Given the description of an element on the screen output the (x, y) to click on. 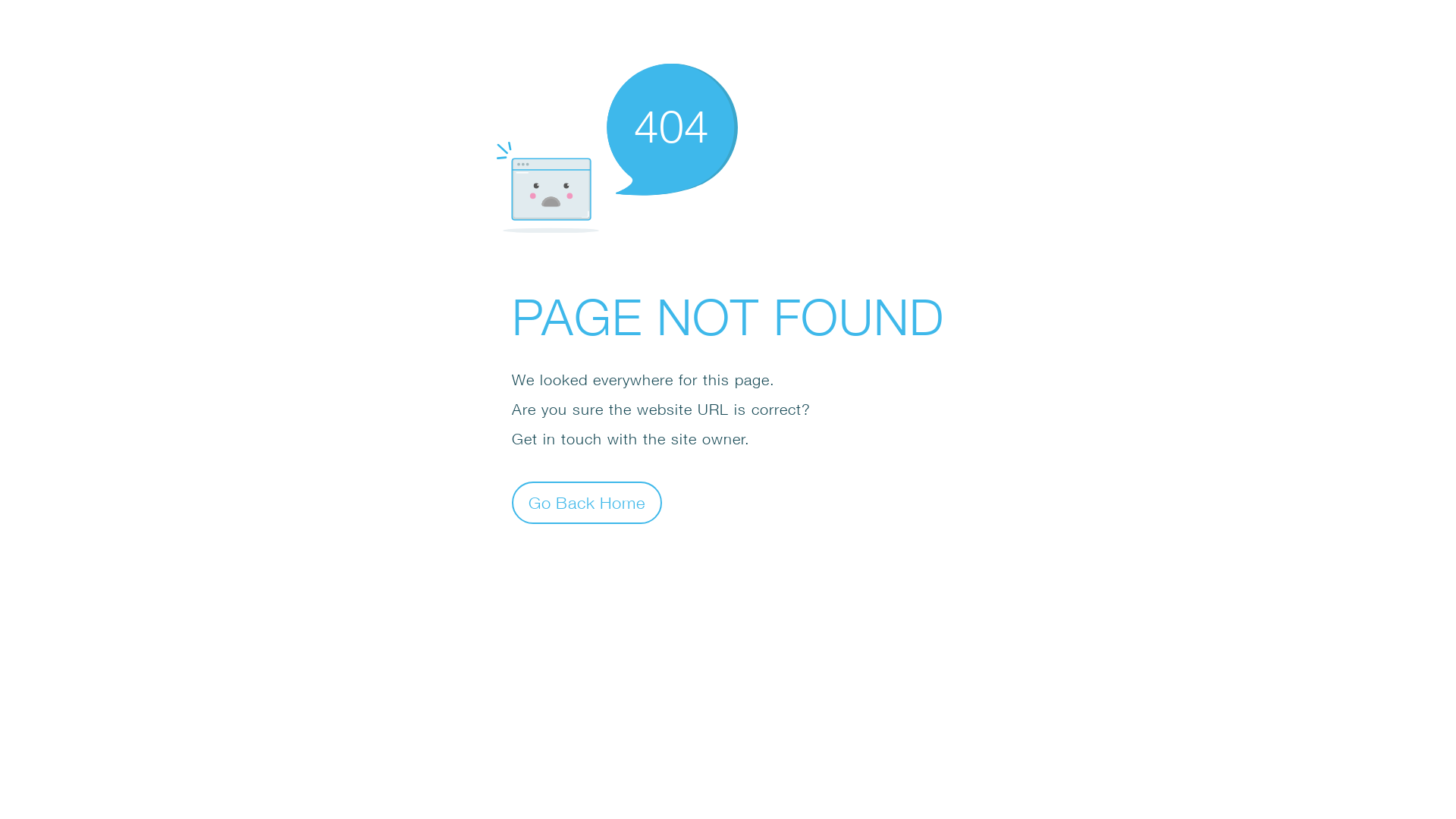
Go Back Home Element type: text (586, 502)
